Given the description of an element on the screen output the (x, y) to click on. 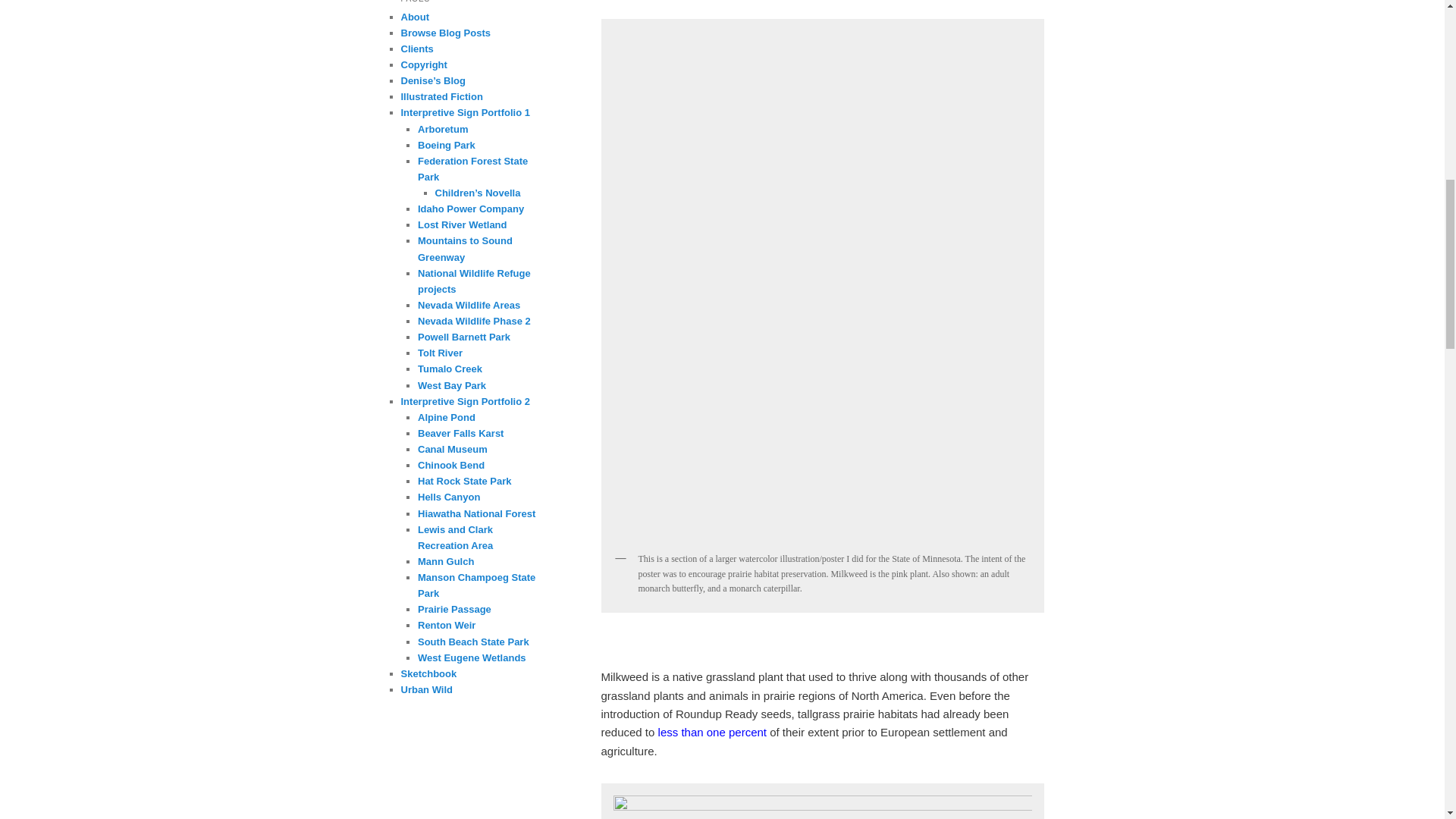
DDahnPrairie (822, 804)
